Given the description of an element on the screen output the (x, y) to click on. 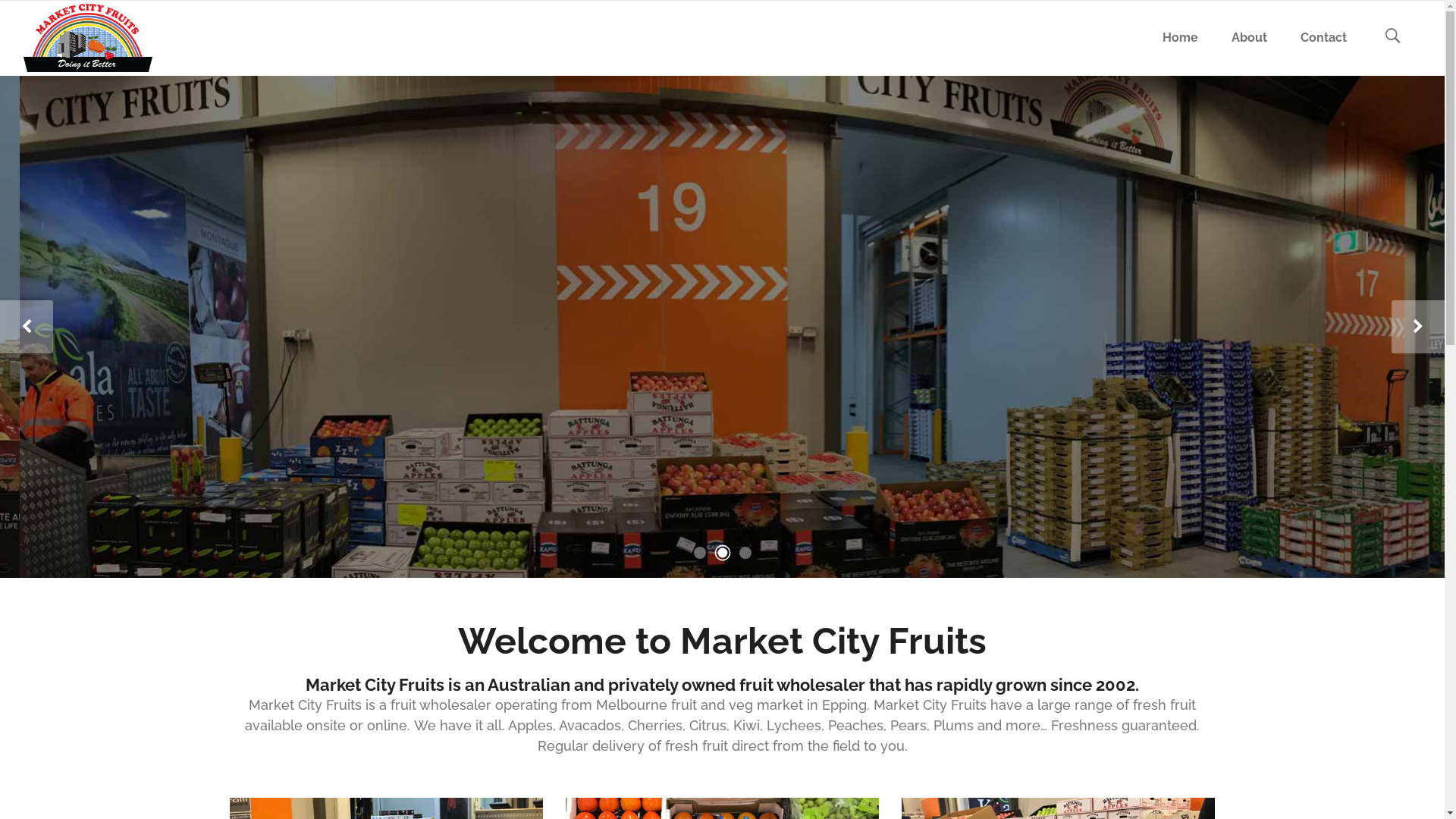
Home Element type: text (1180, 37)
CONTACT US Element type: text (511, 474)
Contact Element type: text (1323, 37)
CHECK IT OUT Element type: text (370, 474)
About Element type: text (1249, 37)
